Given the description of an element on the screen output the (x, y) to click on. 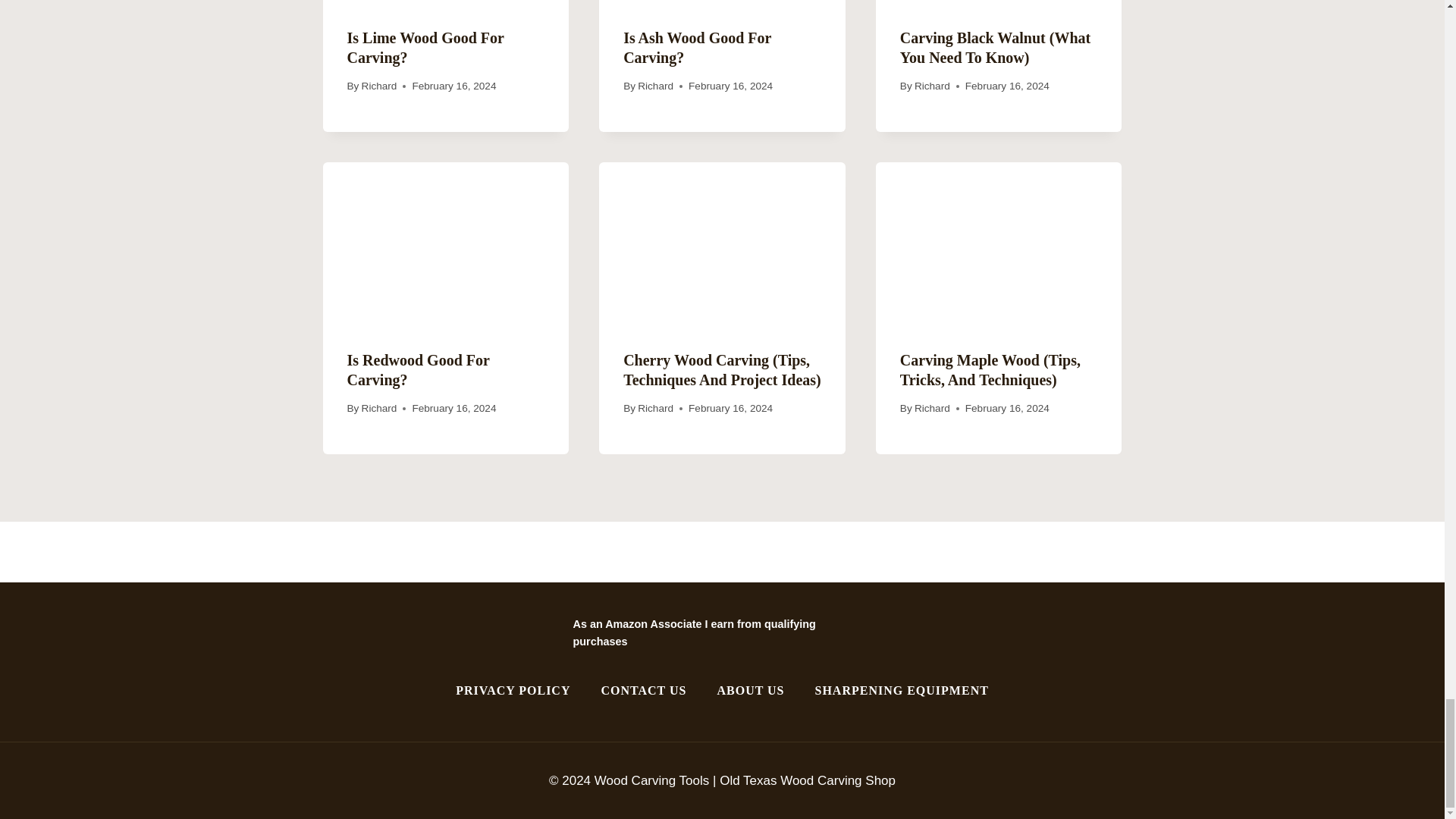
Is Lime Wood Good For Carving? (425, 47)
Richard (379, 85)
